Given the description of an element on the screen output the (x, y) to click on. 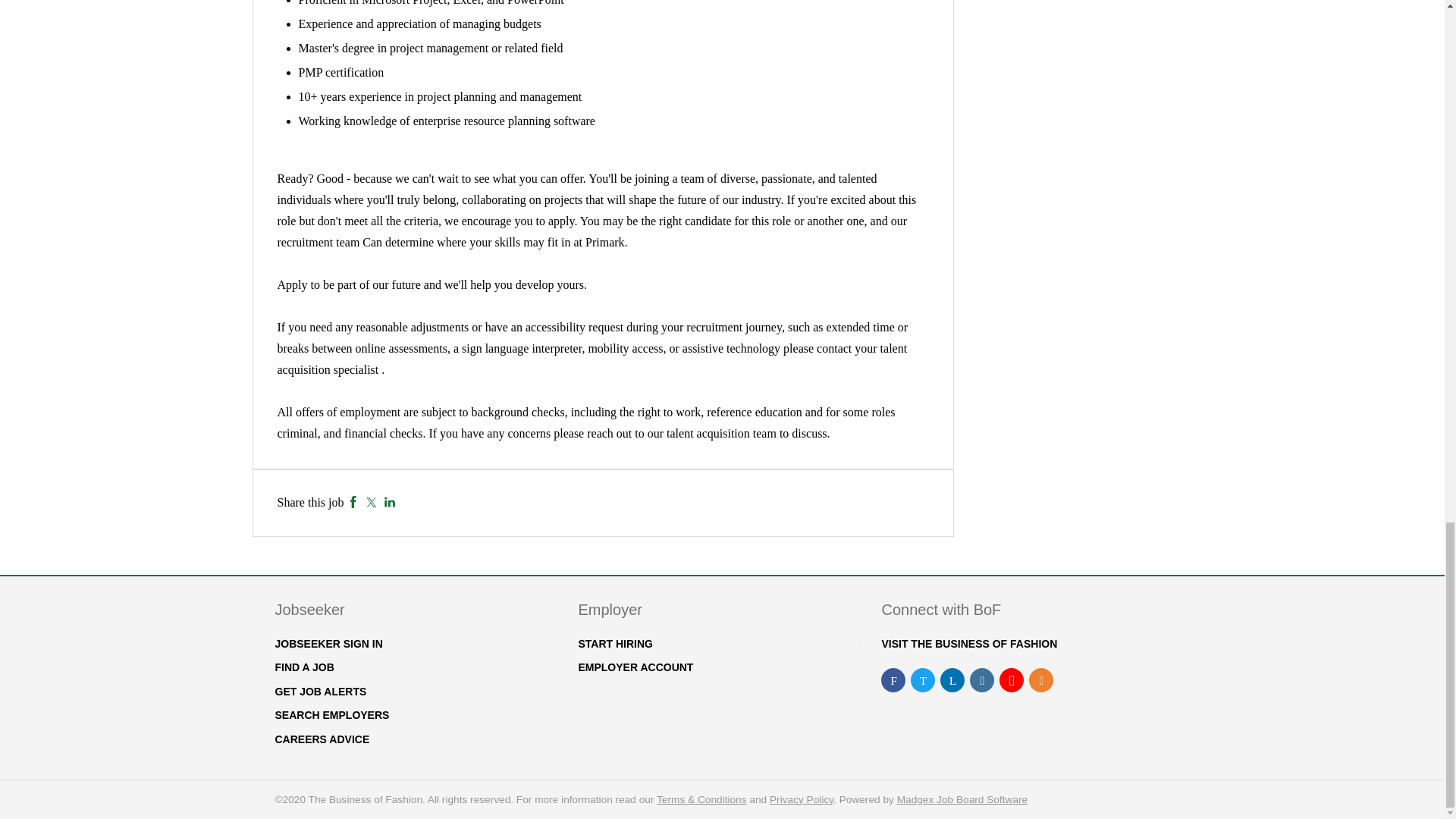
Facebook (353, 502)
SEARCH EMPLOYERS (331, 715)
Twitter (371, 502)
LinkedIn (390, 502)
JOBSEEKER SIGN IN (328, 644)
FIND A JOB (304, 666)
GET JOB ALERTS (320, 691)
